Given the description of an element on the screen output the (x, y) to click on. 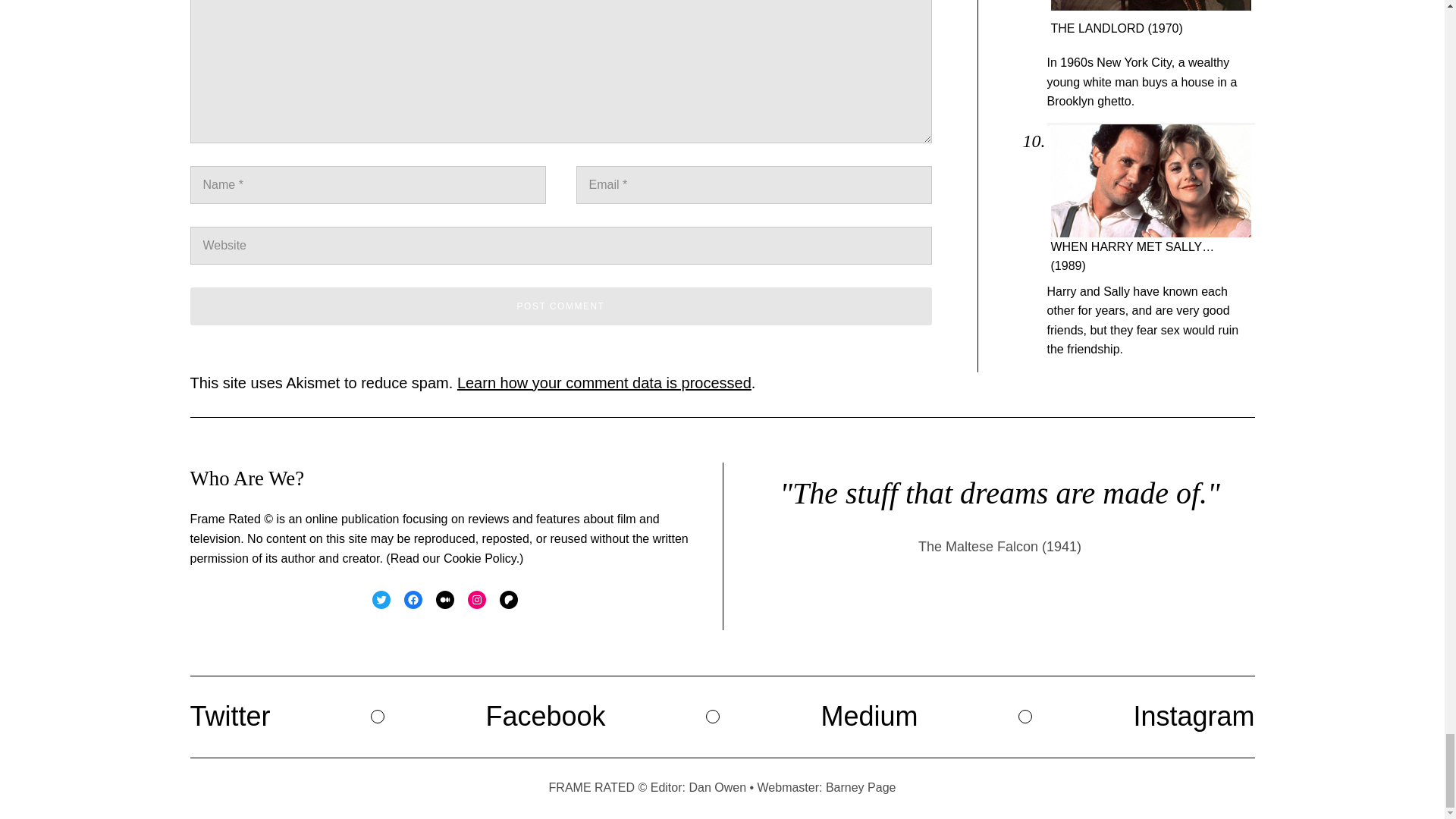
Post Comment (560, 306)
